Given the description of an element on the screen output the (x, y) to click on. 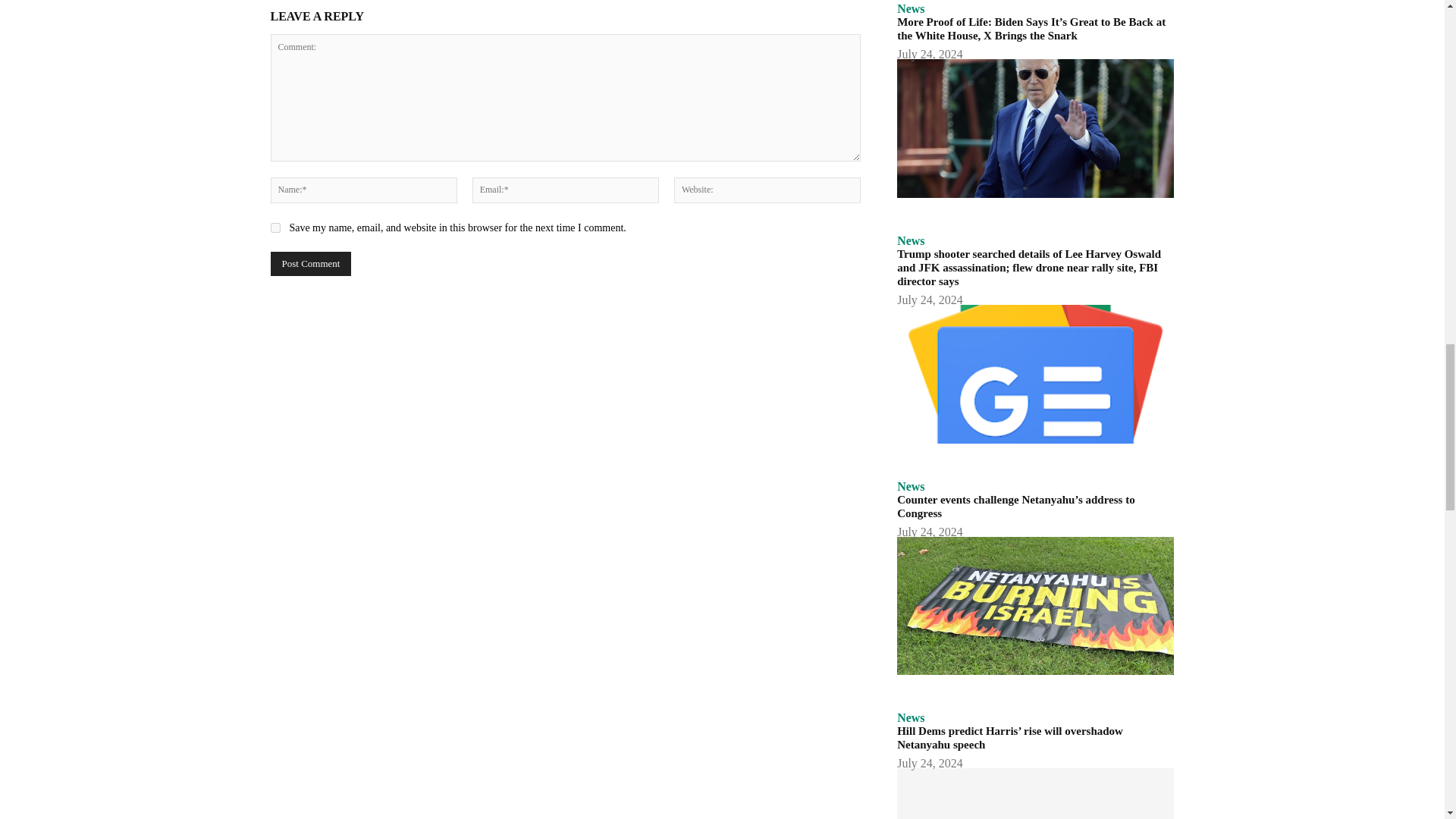
yes (274, 227)
Post Comment (309, 263)
